Given the description of an element on the screen output the (x, y) to click on. 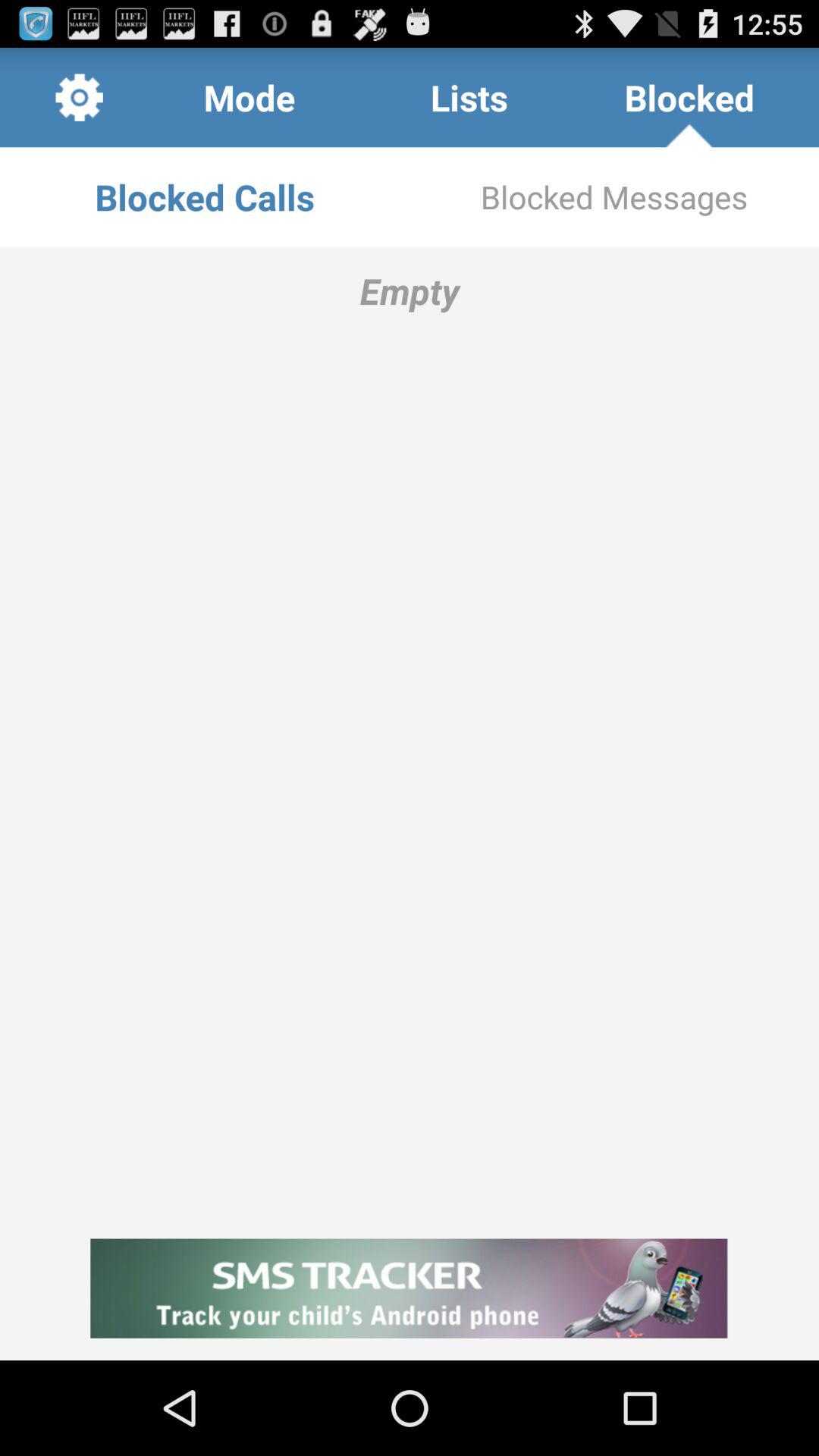
scroll until the lists item (469, 97)
